Given the description of an element on the screen output the (x, y) to click on. 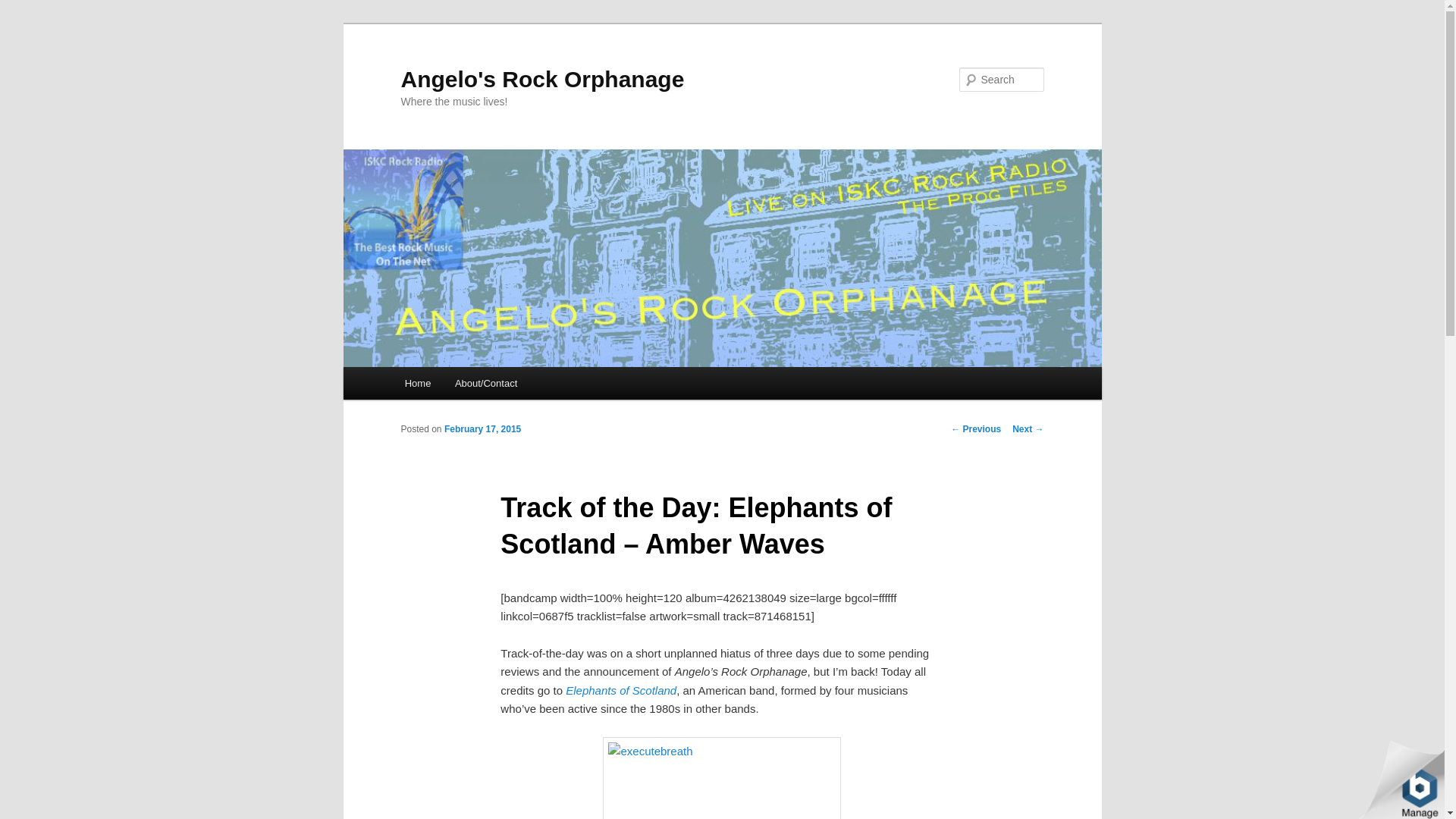
Angelo's Rock Orphanage (542, 78)
5:30 pm (482, 429)
Home (417, 382)
Elephants of Scotland (621, 689)
February 17, 2015 (482, 429)
Search (24, 8)
